Given the description of an element on the screen output the (x, y) to click on. 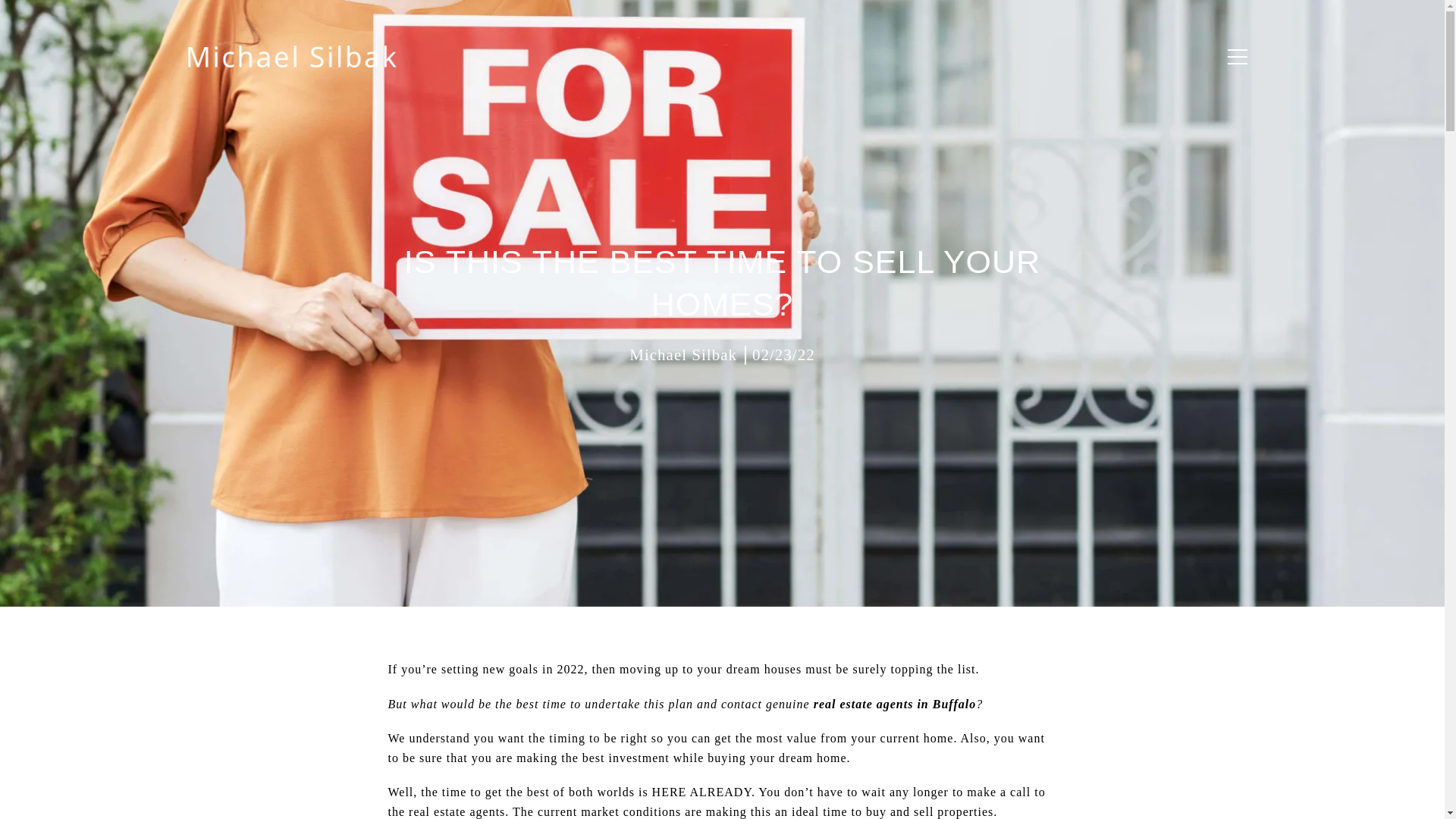
real estate agents in Buffalo (894, 703)
